Given the description of an element on the screen output the (x, y) to click on. 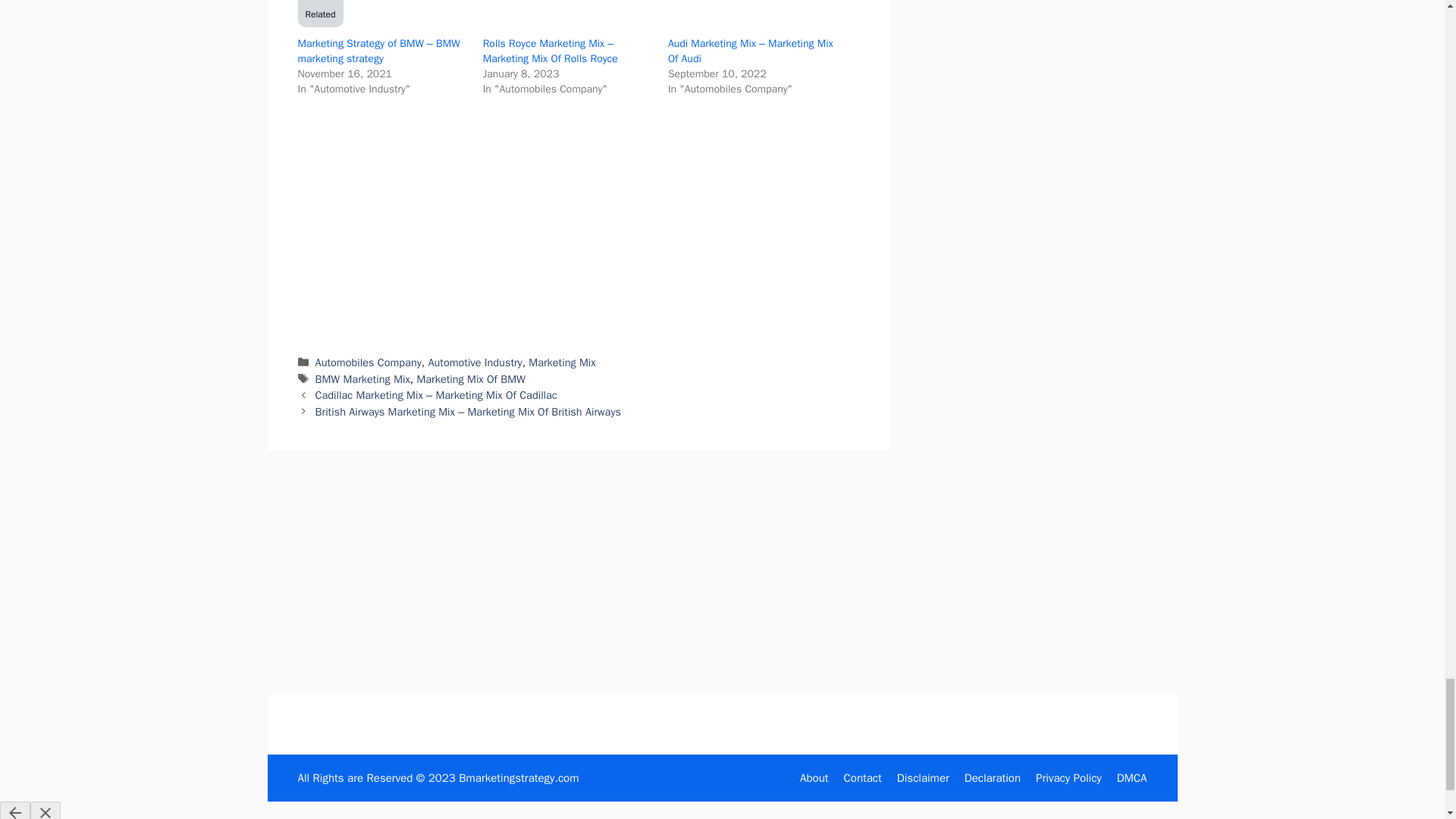
BMW Marketing Mix (362, 378)
Marketing Mix Of BMW (470, 378)
Automobiles Company (368, 362)
Automotive Industry (474, 362)
Marketing Mix (561, 362)
